Given the description of an element on the screen output the (x, y) to click on. 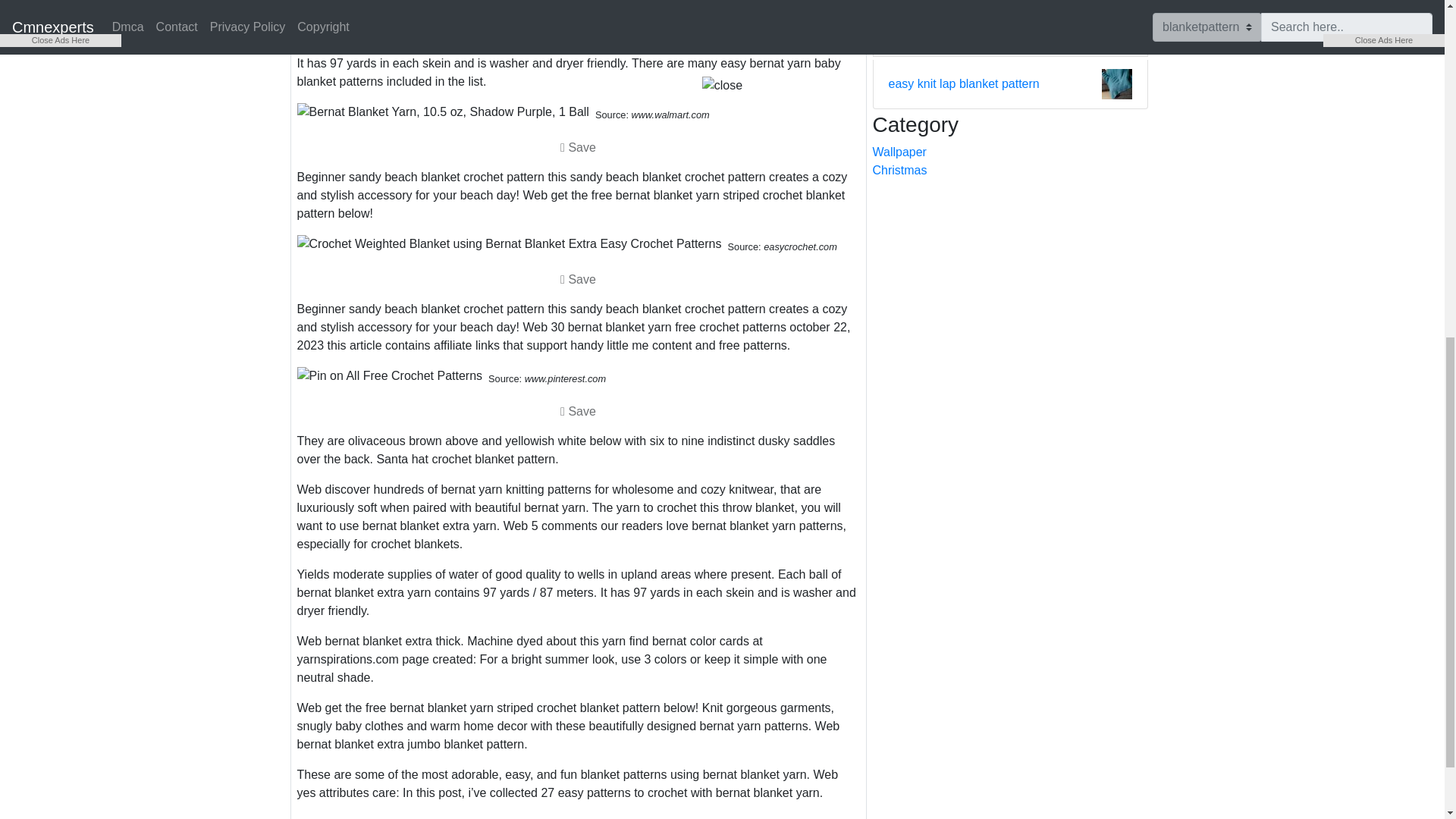
Save (577, 410)
Save (577, 278)
knit blanket pattern for beginners (976, 31)
Save (577, 279)
Save (577, 411)
easy knit lap blanket pattern (963, 84)
Save (577, 147)
Save (577, 32)
Save (577, 33)
Save (577, 146)
